Given the description of an element on the screen output the (x, y) to click on. 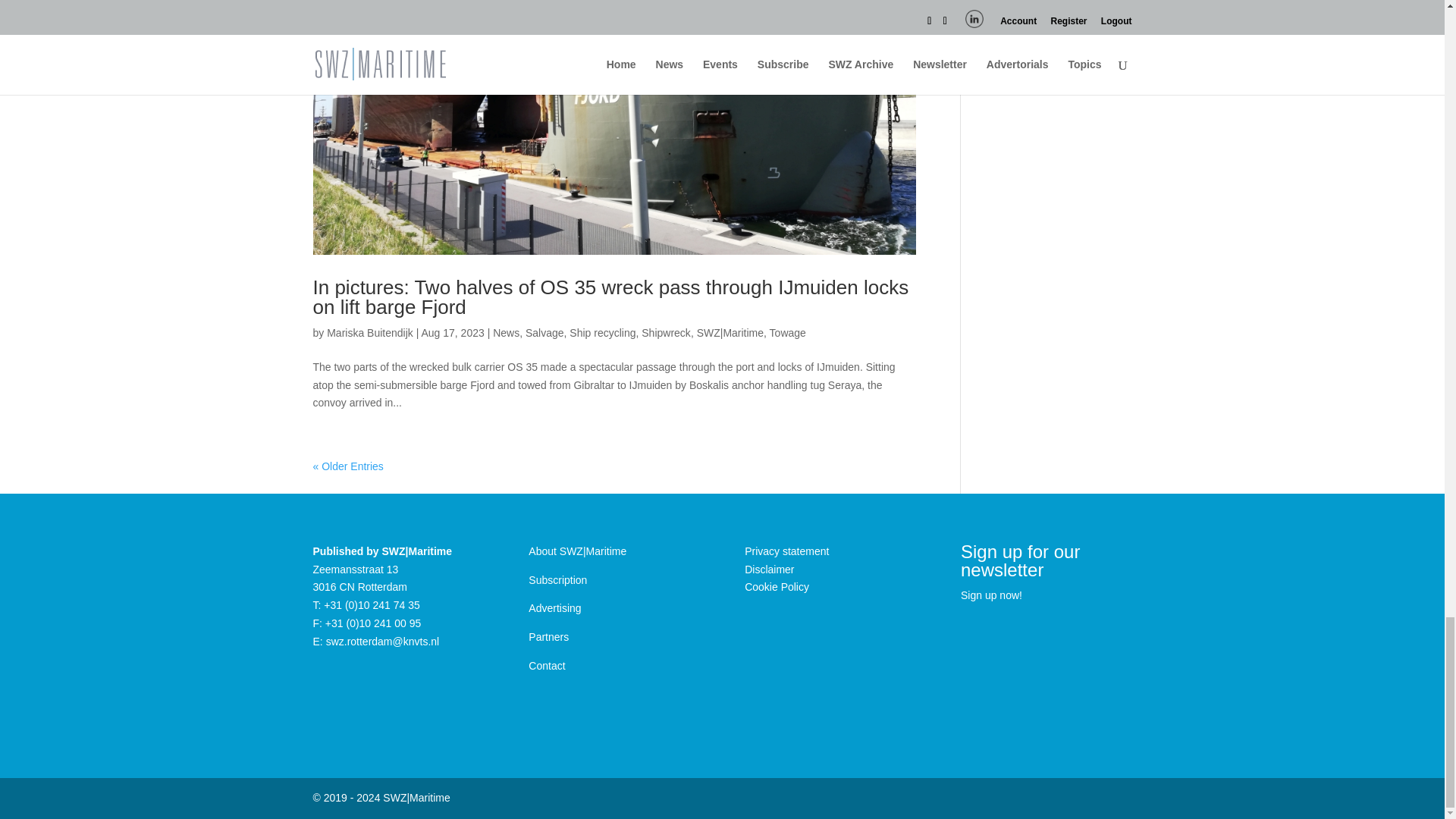
Contact (546, 665)
Advertising (554, 607)
Partners (548, 636)
Posts by Mariska Buitendijk (369, 332)
Subscription (557, 580)
